Given the description of an element on the screen output the (x, y) to click on. 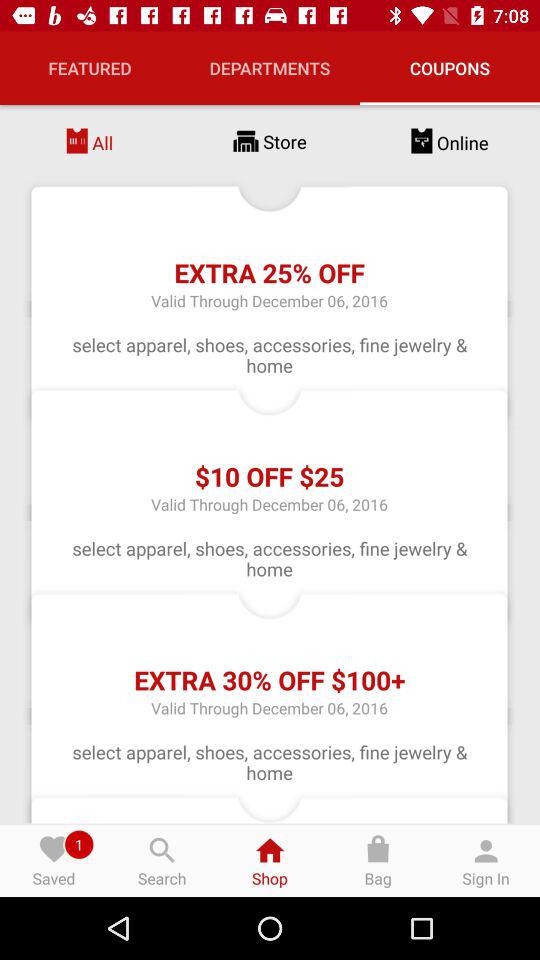
select the item below the departments (270, 141)
